Given the description of an element on the screen output the (x, y) to click on. 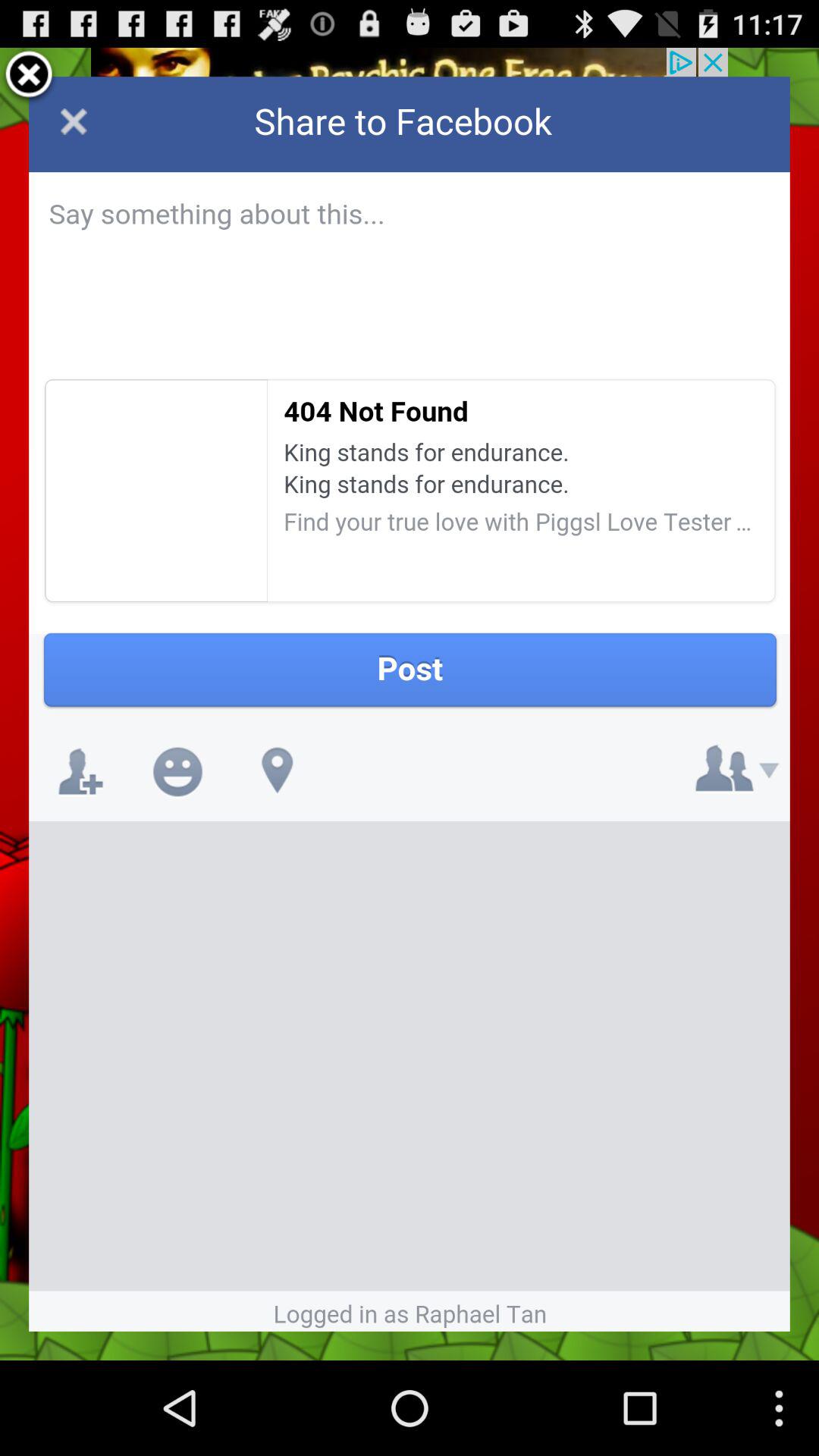
close tab (29, 76)
